Given the description of an element on the screen output the (x, y) to click on. 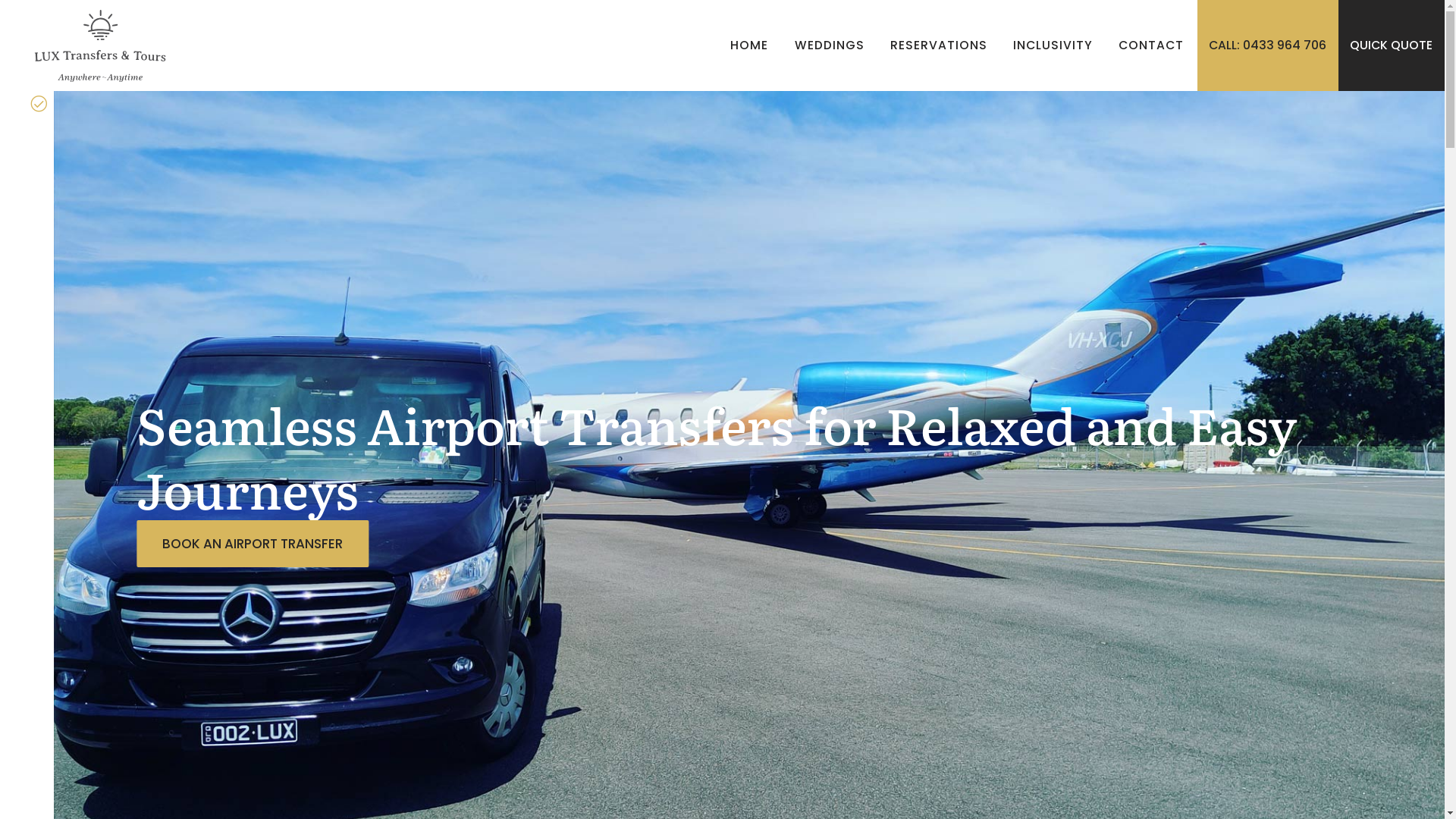
INCLUSIVITY Element type: text (1052, 45)
CONTACT Element type: text (1151, 45)
CALL: 0433 964 706 Element type: text (1267, 45)
RESERVATIONS Element type: text (938, 45)
QUICK QUOTE Element type: text (1391, 45)
WEDDINGS Element type: text (829, 45)
HOME Element type: text (749, 45)
LUX Transfers Element type: hover (99, 45)
BOOK AN AIRPORT TRANSFER Element type: text (252, 543)
